Given the description of an element on the screen output the (x, y) to click on. 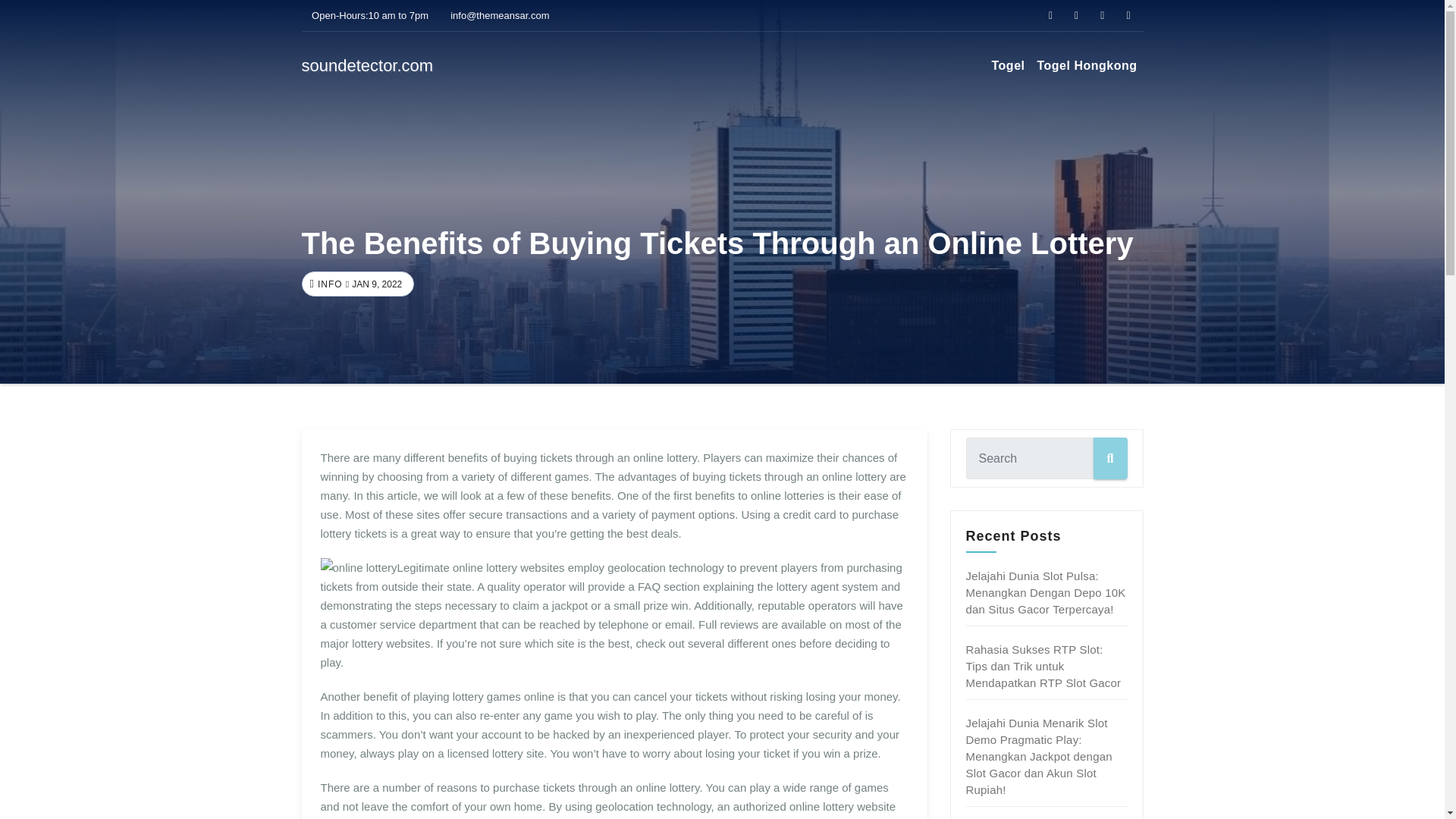
INFO (328, 284)
soundetector.com (367, 65)
Togel Hongkong (1086, 65)
Togel Hongkong (1086, 65)
Open-Hours:10 am to 7pm (365, 15)
